Given the description of an element on the screen output the (x, y) to click on. 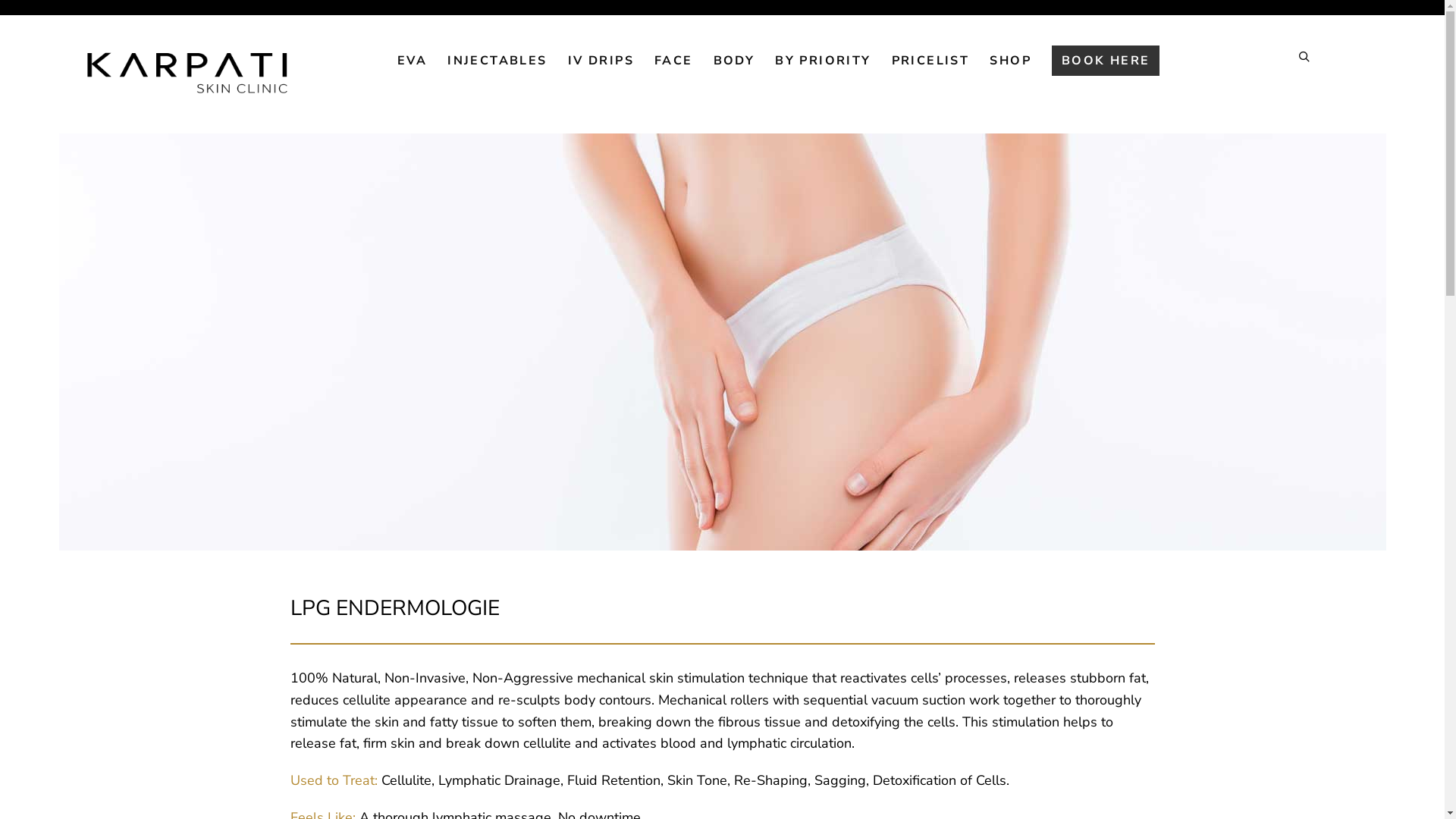
BY PRIORITY Element type: text (822, 60)
INJECTABLES Element type: text (496, 60)
SHOP Element type: text (1010, 60)
BODY Element type: text (734, 60)
..BOOK HERE.. Element type: text (1105, 60)
Endermologie Element type: hover (722, 341)
EVA Element type: text (411, 60)
PRICELIST Element type: text (930, 60)
FACE Element type: text (673, 60)
IV DRIPS Element type: text (600, 60)
